Given the description of an element on the screen output the (x, y) to click on. 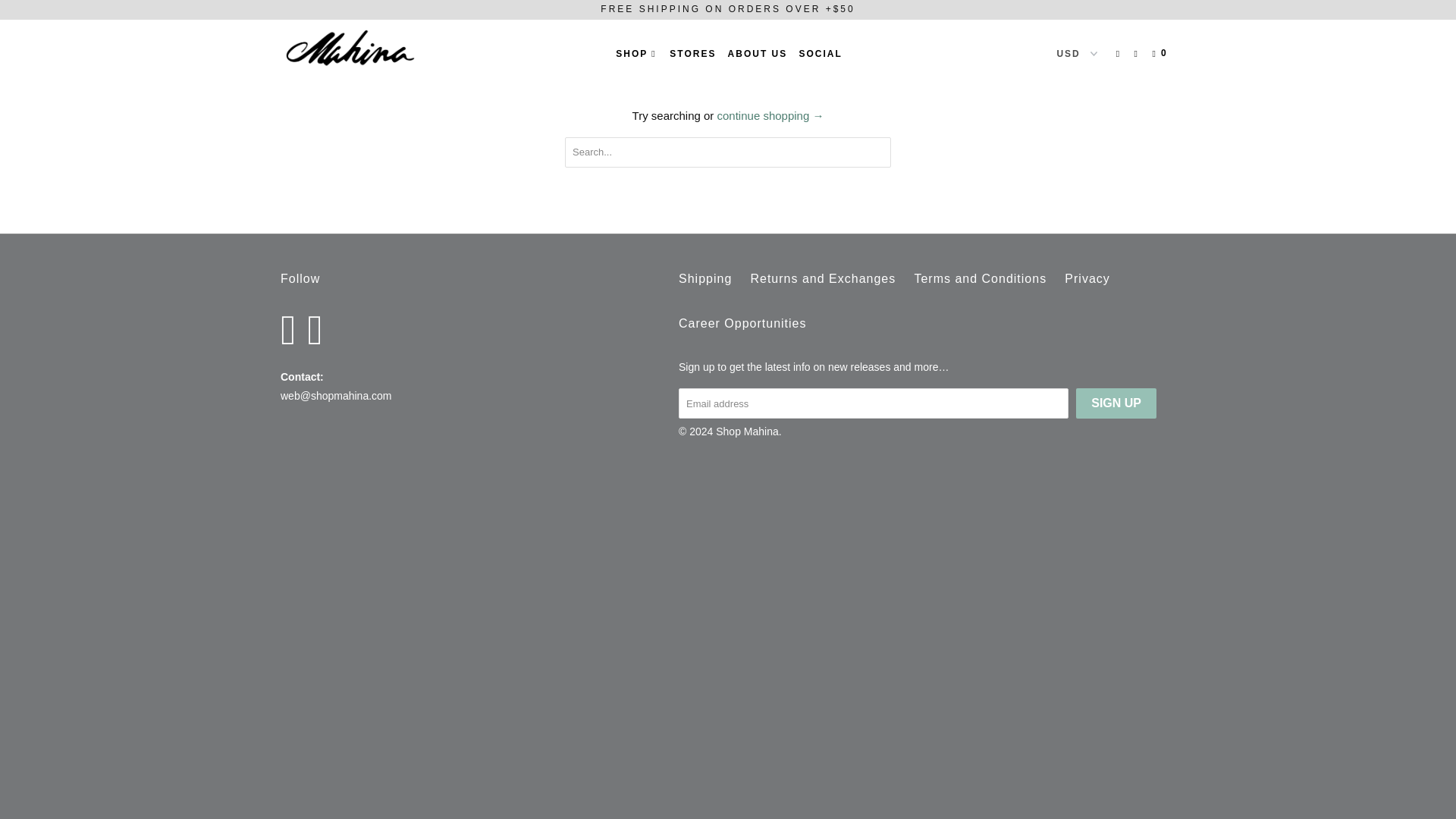
Returns and Exchanges (822, 278)
SHOP (636, 53)
SOCIAL (819, 53)
Terms and Conditions (980, 278)
Sign Up (1115, 403)
Shipping (705, 278)
Shop Mahina (747, 431)
Privacy (1086, 278)
Shop Mahina (358, 47)
ABOUT US (757, 53)
